Given the description of an element on the screen output the (x, y) to click on. 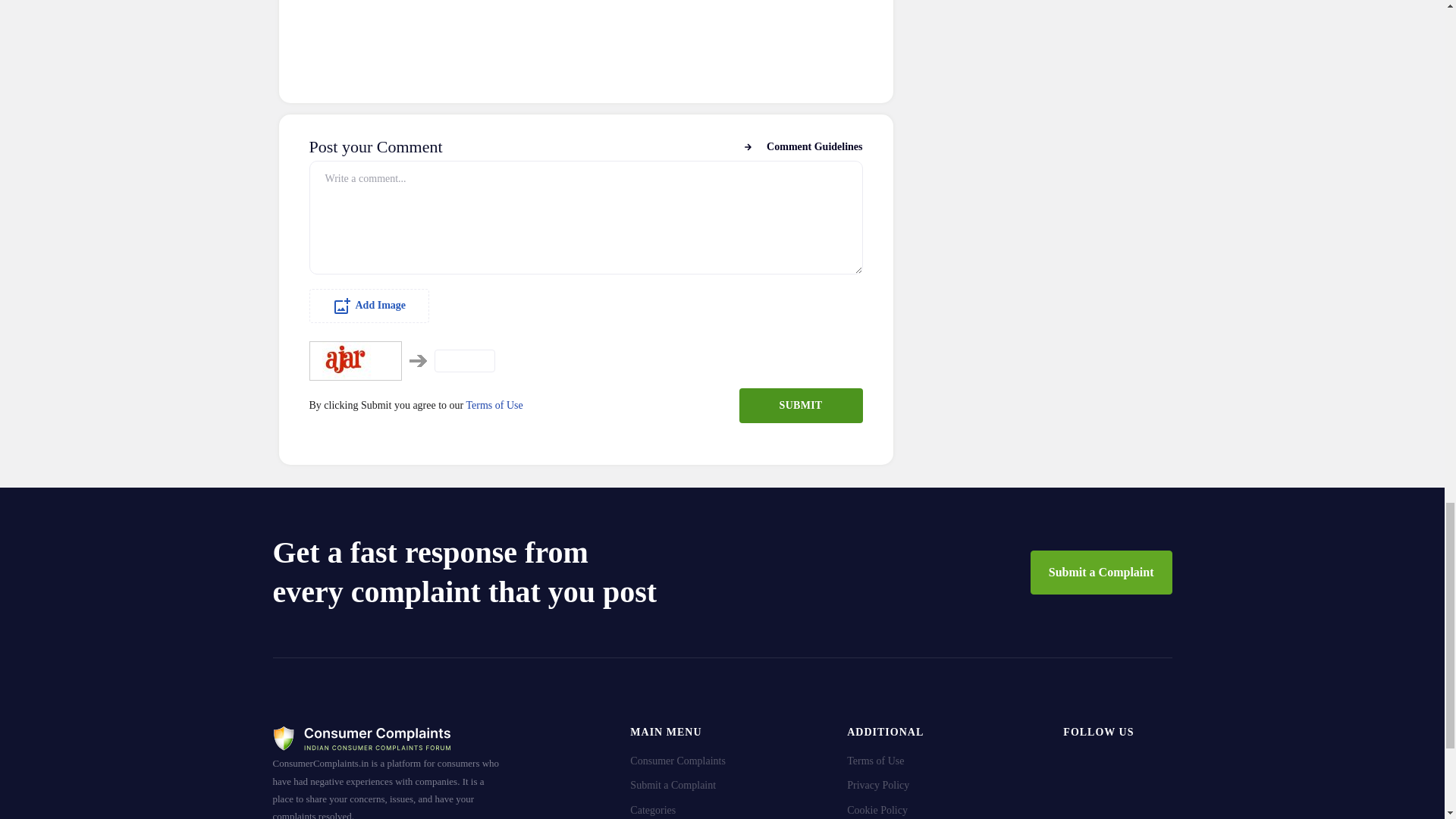
Submit a Complaint (1101, 572)
Comment Guidelines (802, 147)
Terms of Use (493, 405)
